Given the description of an element on the screen output the (x, y) to click on. 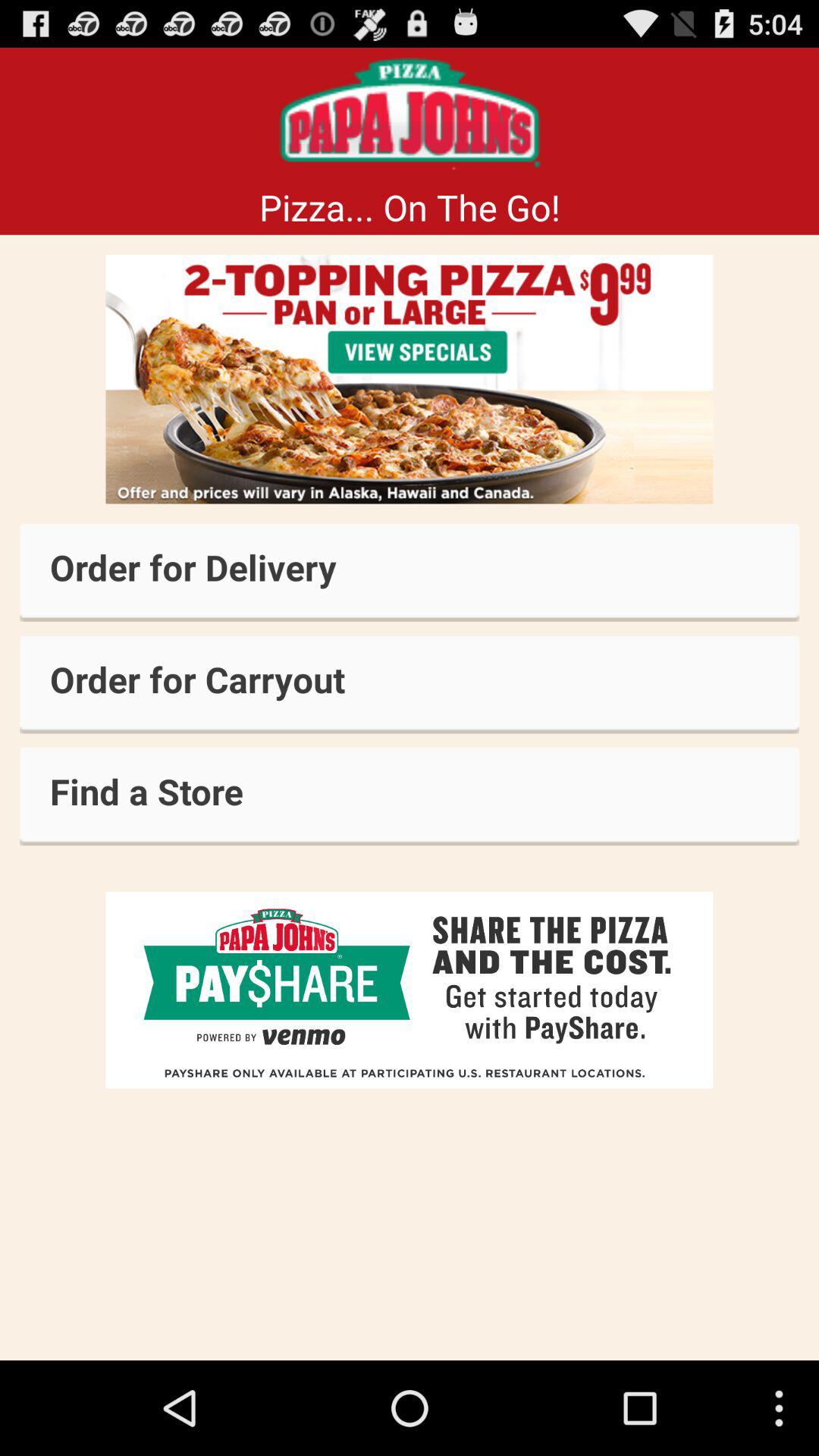
select the item above order for delivery item (409, 378)
